Given the description of an element on the screen output the (x, y) to click on. 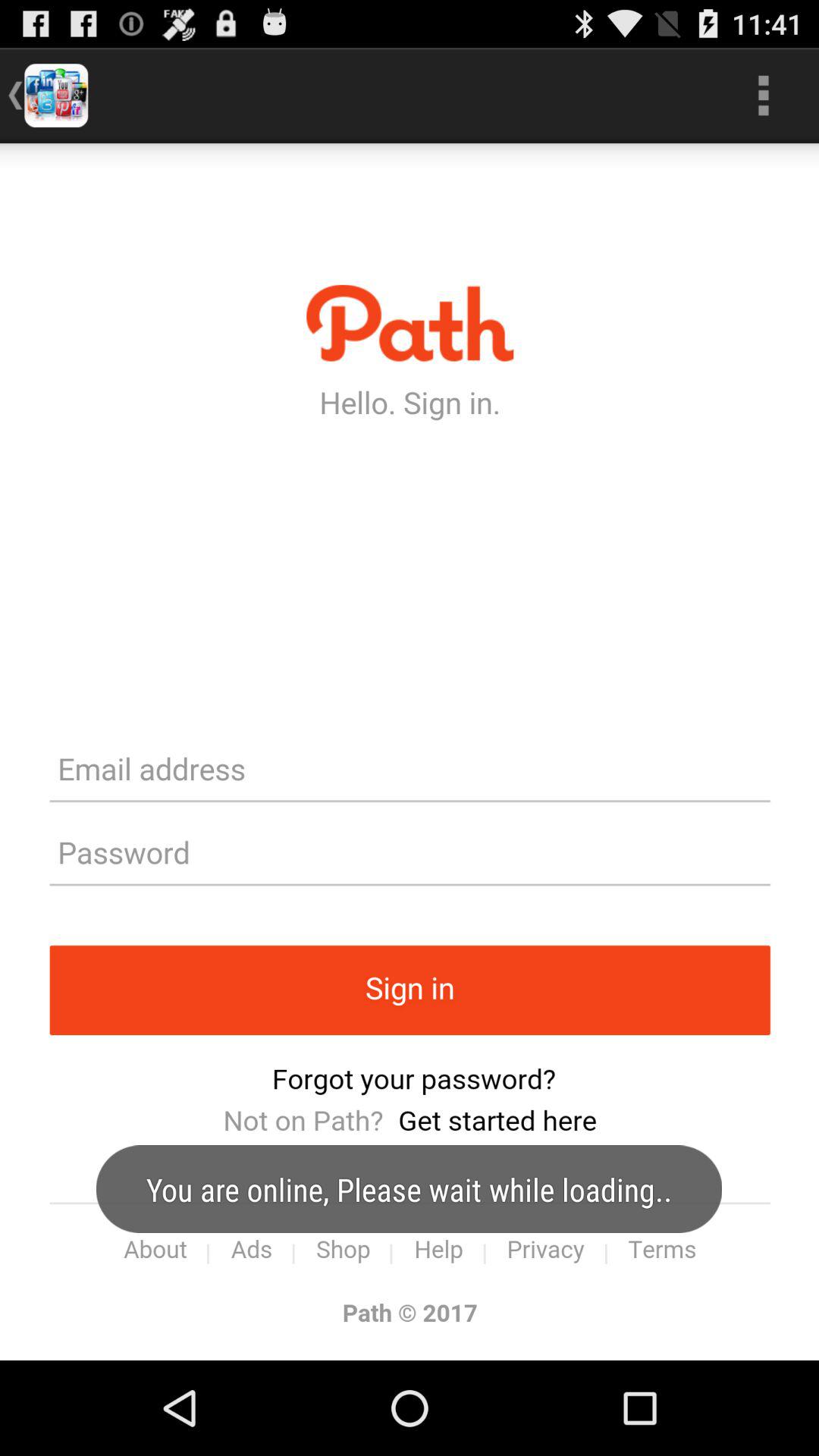
login page (409, 751)
